Given the description of an element on the screen output the (x, y) to click on. 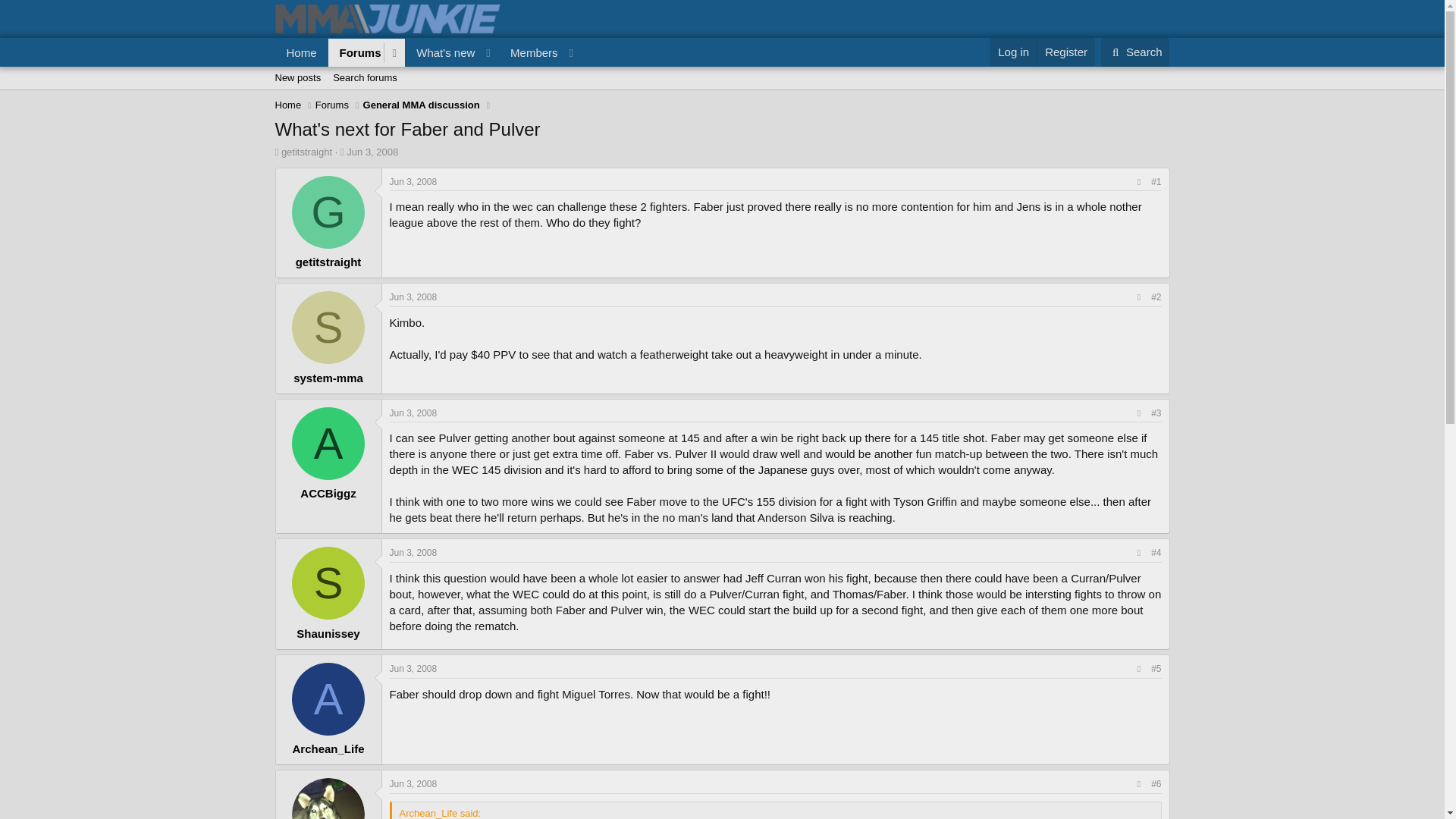
Jun 3, 2008 at 3:41 PM (414, 783)
getitstraight (306, 152)
Register (1065, 51)
Members (529, 52)
General MMA discussion (421, 105)
Jun 3, 2008 at 3:36 PM (414, 668)
Home (288, 105)
New posts (296, 77)
What's new (440, 52)
Home (301, 52)
Jun 3, 2008 at 1:48 PM (720, 94)
Jun 3, 2008 (414, 296)
